Given the description of an element on the screen output the (x, y) to click on. 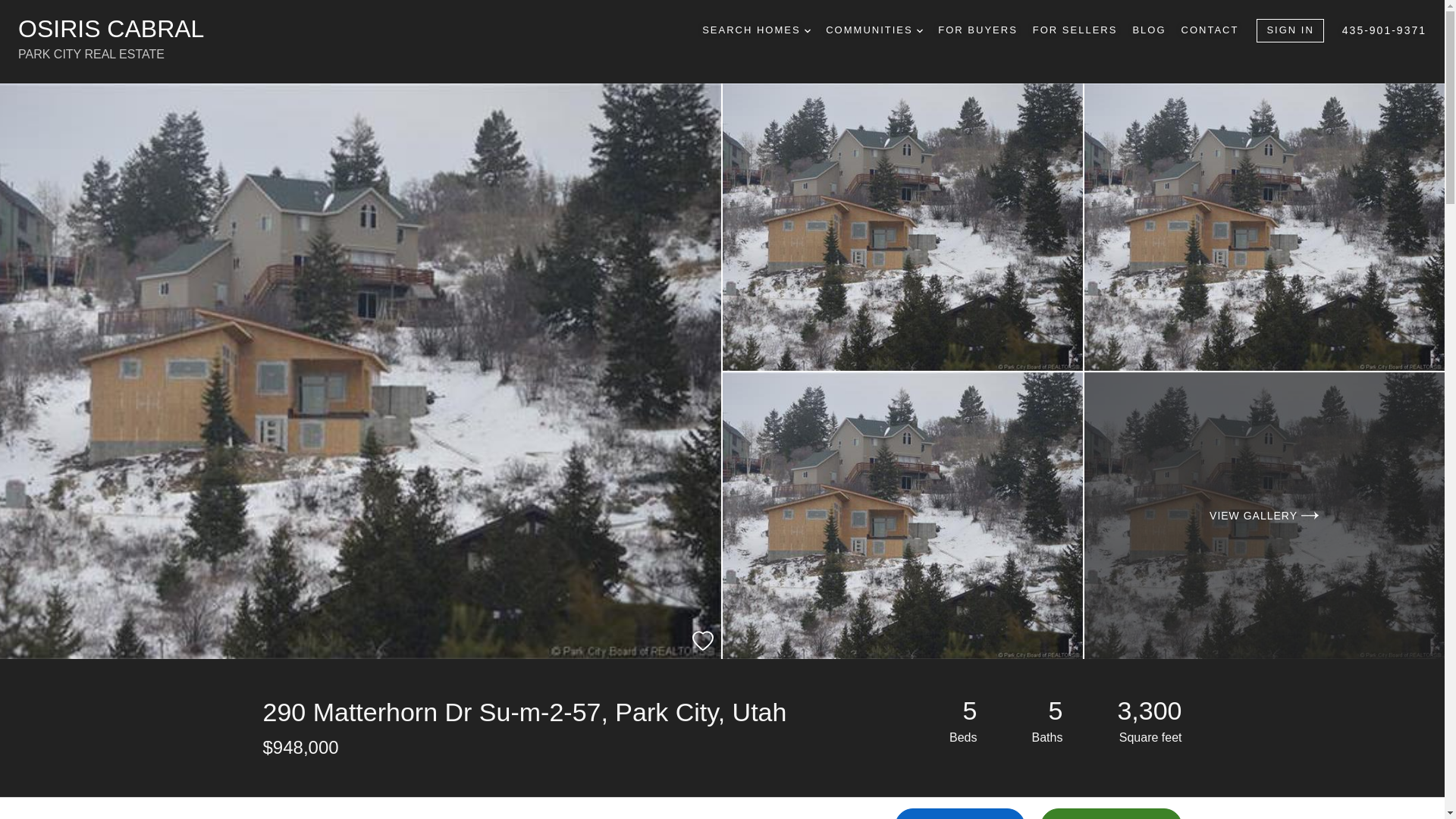
FOR BUYERS (977, 30)
DROPDOWN ARROW (920, 30)
SIGN IN (1289, 30)
COMMUNITIES DROPDOWN ARROW (874, 30)
435-901-9371 (1384, 29)
DROPDOWN ARROW (807, 30)
CONTACT (1209, 30)
REQUEST INFO (960, 813)
REQUEST SHOWING (673, 808)
OVERVIEW (291, 808)
